Given the description of an element on the screen output the (x, y) to click on. 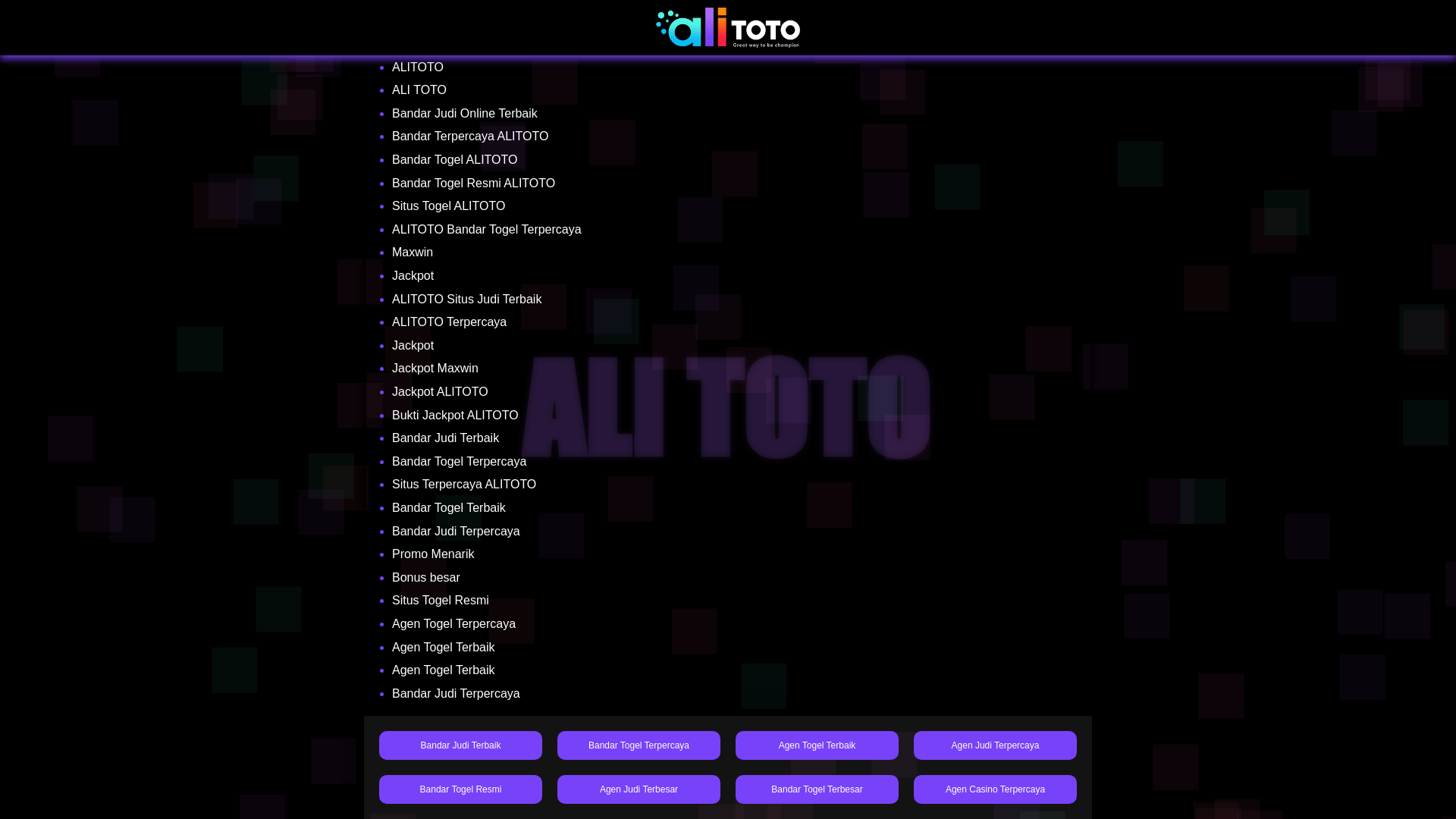
Bandar Togel Resmi (459, 788)
Agen Togel Terbaik (816, 745)
Bandar Togel Terbesar (816, 788)
Bandar Togel Terpercaya (638, 745)
Agen Casino Terpercaya (995, 788)
Bandar Judi Terbaik (459, 745)
Agen Judi Terbesar (638, 788)
Agen Judi Terpercaya (995, 745)
